Given the description of an element on the screen output the (x, y) to click on. 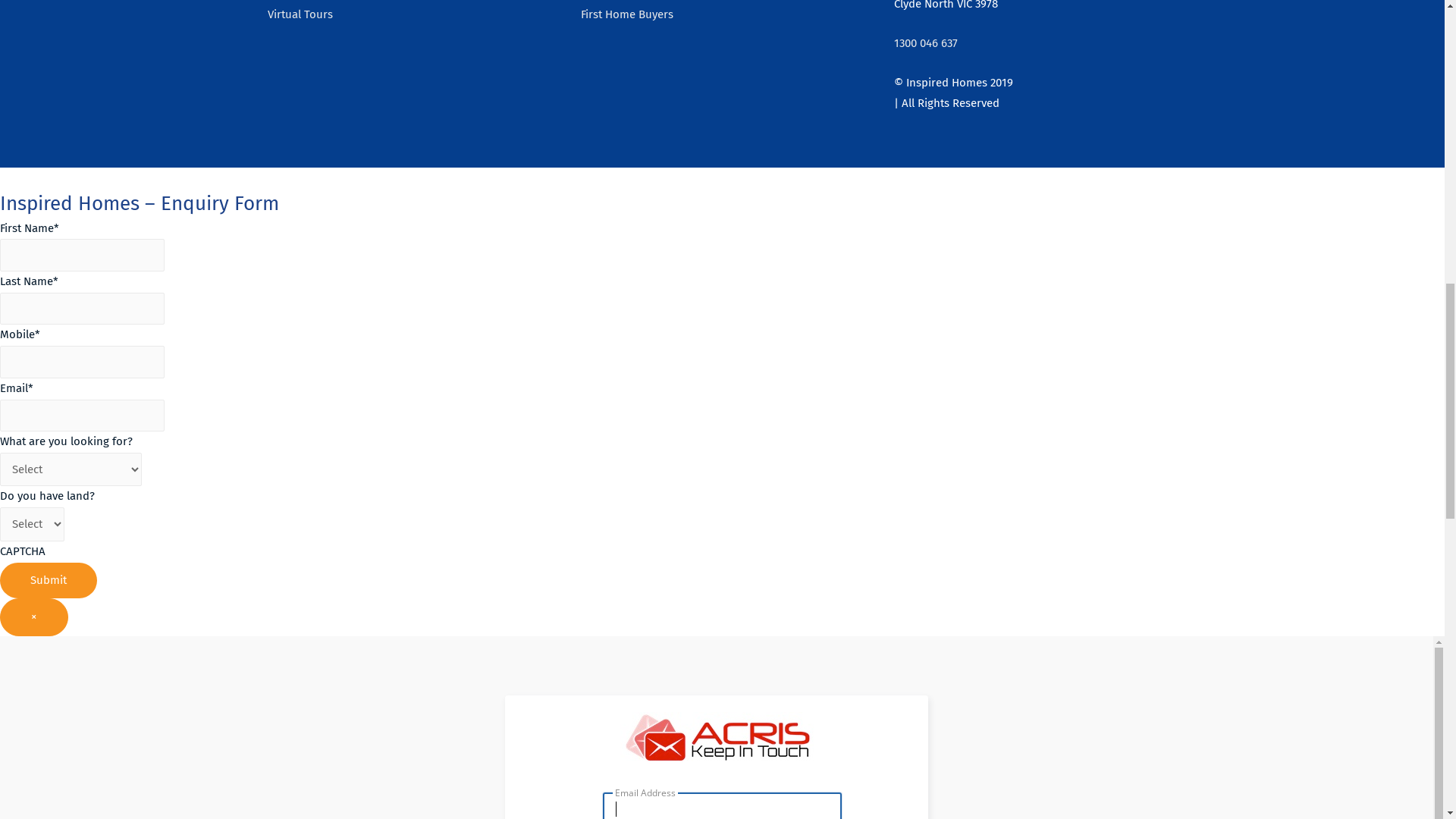
1300 046 637 Element type: text (97, 14)
Virtual Tours Element type: text (998, 107)
Entries feed Element type: text (979, 587)
Facades Element type: text (1073, 107)
BOOK A CONSULTATION Element type: text (190, 14)
Our Homes Element type: text (812, 107)
WordPress.org Element type: text (987, 638)
Search Element type: text (1398, 107)
Home Creator Element type: text (907, 107)
Get in touch Element type: text (1337, 107)
Search Element type: text (1159, 253)
Check out our Virtual Tours Element type: text (336, 746)
About Us Element type: text (1253, 107)
Comments feed Element type: text (989, 613)
Log in Element type: text (964, 561)
Build With Us Element type: text (1158, 107)
Arrange a free site appraisal Element type: text (966, 746)
Book an appointment Element type: text (636, 746)
